Given the description of an element on the screen output the (x, y) to click on. 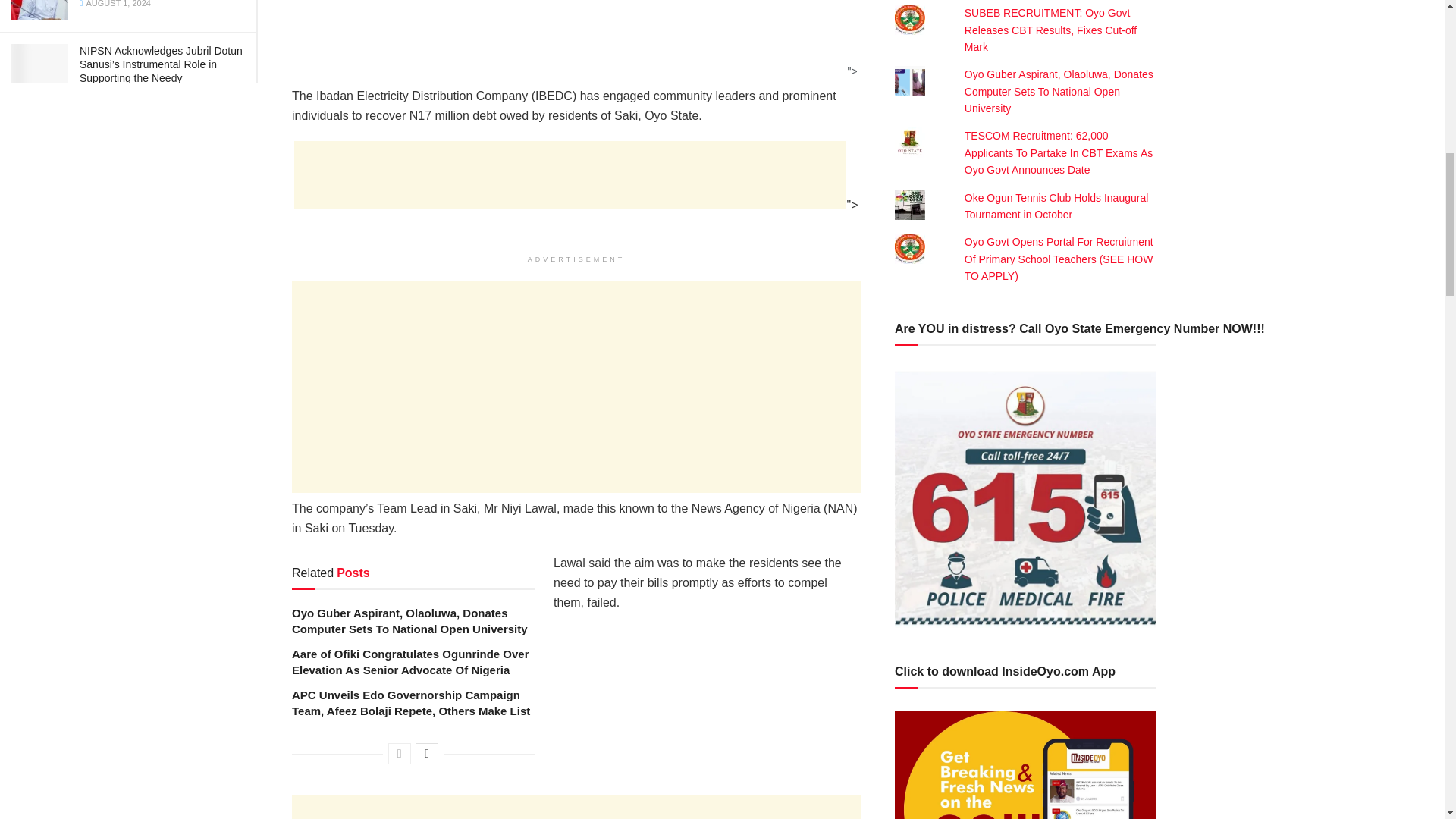
Are YOU in distress? Call Oyo State Emergency Number NOW!!! (1025, 498)
Previous (399, 753)
Next (426, 753)
Oke Ogun Tennis Club Holds Inaugural Tournament in October (1055, 205)
